Given the description of an element on the screen output the (x, y) to click on. 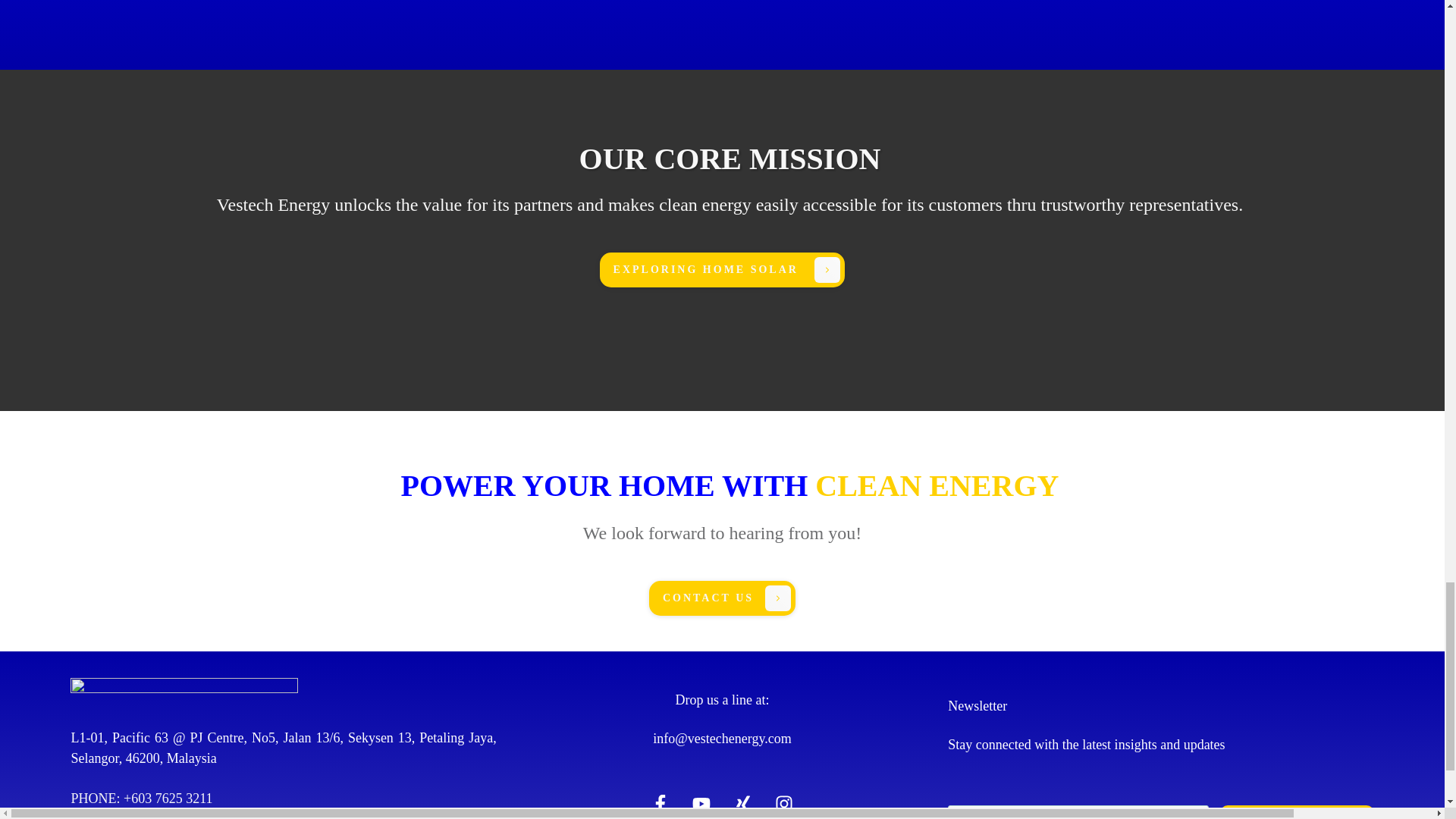
EXPLORING HOME SOLAR  (722, 269)
CONTACT US (721, 597)
Vestech Leaflet v2 (356, 23)
Subscribe (1297, 812)
